Given the description of an element on the screen output the (x, y) to click on. 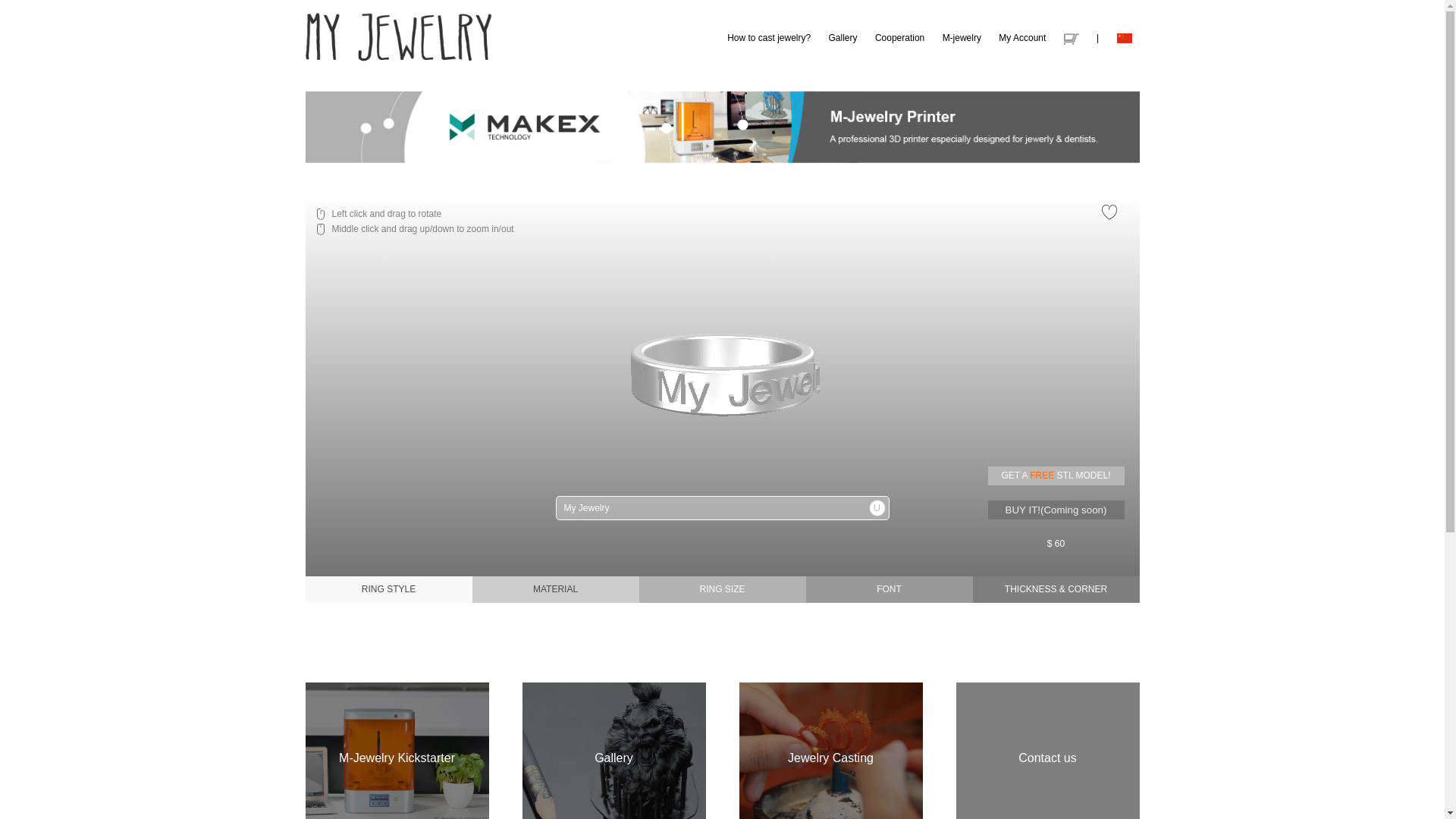
M-jewelry Element type: text (961, 37)
Cooperation Element type: text (899, 37)
GET A FREE STL MODEL! Element type: text (1055, 475)
Gallery Element type: text (842, 37)
My Account Element type: text (1021, 37)
Chinese Element type: hover (1123, 38)
How to cast jewelry? Element type: text (768, 37)
BUY IT!(Coming soon) Element type: text (1055, 509)
